Given the description of an element on the screen output the (x, y) to click on. 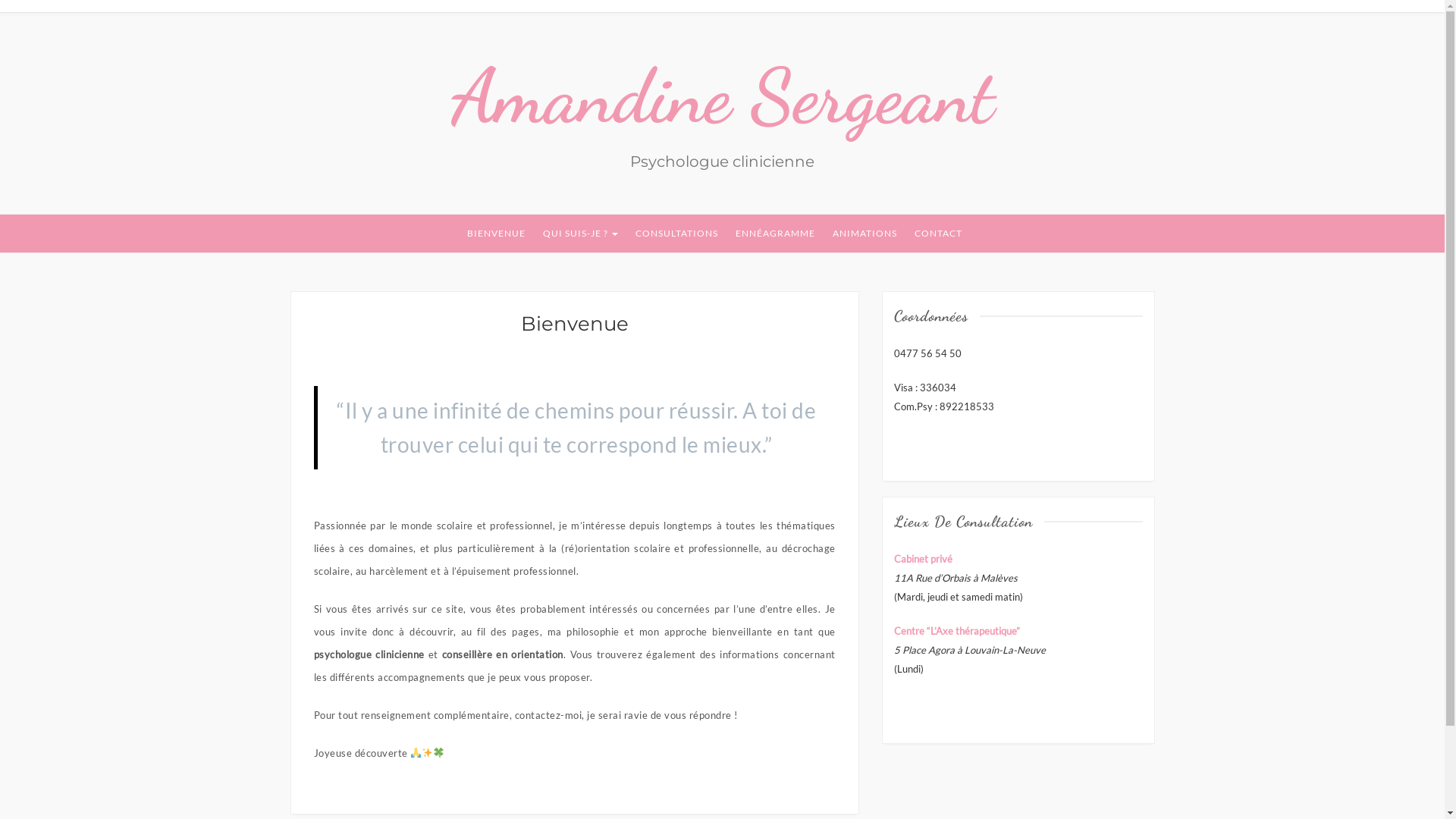
BIENVENUE Element type: text (496, 233)
Amandine Sergeant Element type: text (721, 95)
CONTACT Element type: text (938, 233)
CONSULTATIONS Element type: text (676, 233)
ANIMATIONS Element type: text (864, 233)
QUI SUIS-JE ? Element type: text (580, 233)
